Given the description of an element on the screen output the (x, y) to click on. 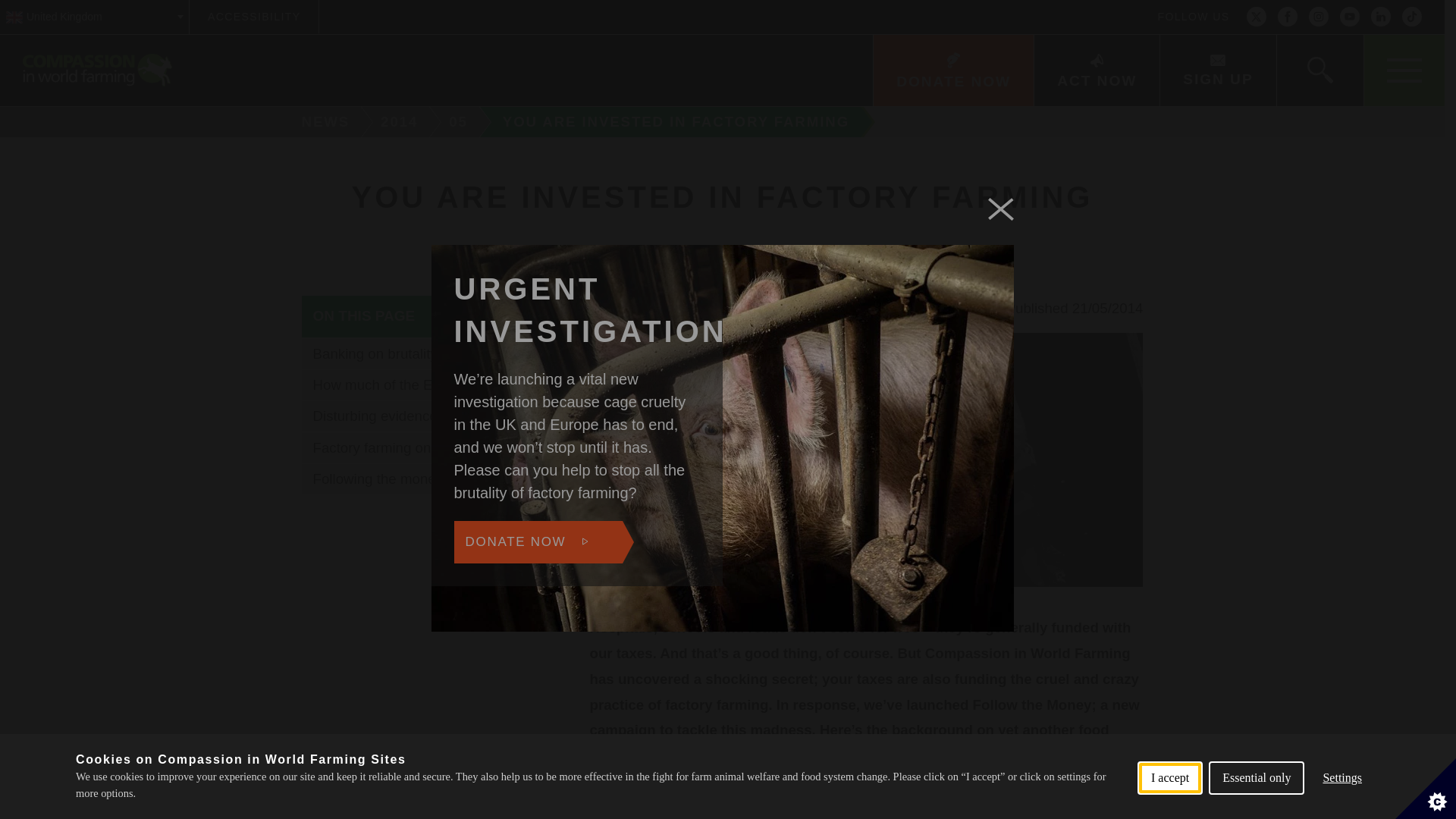
05 (460, 122)
NEWS (320, 122)
2014 (401, 122)
Twitter (1255, 16)
ACCESSIBILITY (253, 16)
Settings (1342, 802)
DONATE NOW (952, 70)
Essential only (1256, 808)
United Kingdom (94, 16)
Instagram (1318, 16)
LinkedIn (1380, 16)
TikTok (1412, 16)
YouTube (1350, 16)
I accept (1169, 811)
Facebook (1287, 16)
